Given the description of an element on the screen output the (x, y) to click on. 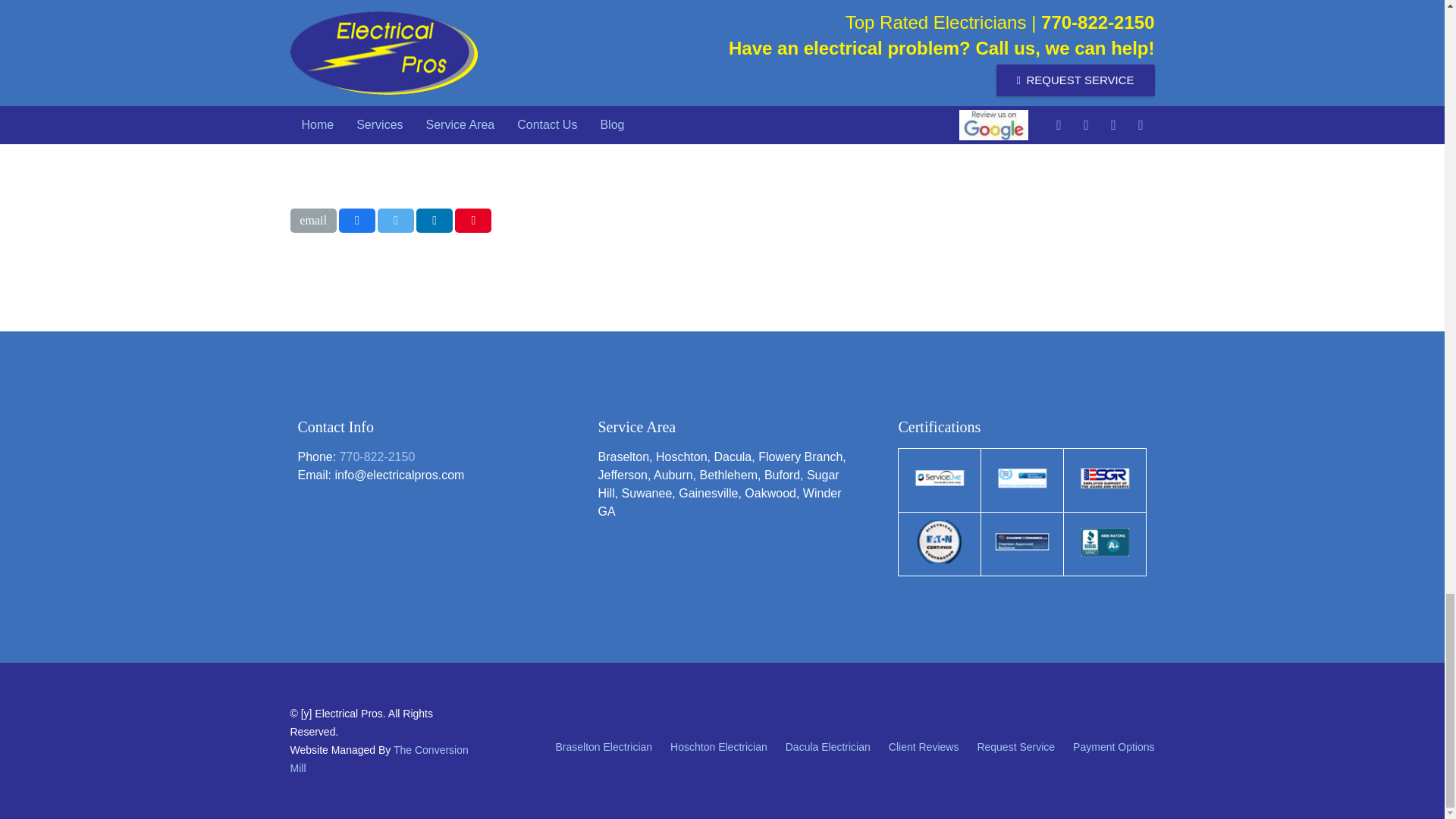
Share this (357, 220)
Share this (434, 220)
Email this (312, 220)
Pin this (473, 220)
Tweet this (395, 220)
